Given the description of an element on the screen output the (x, y) to click on. 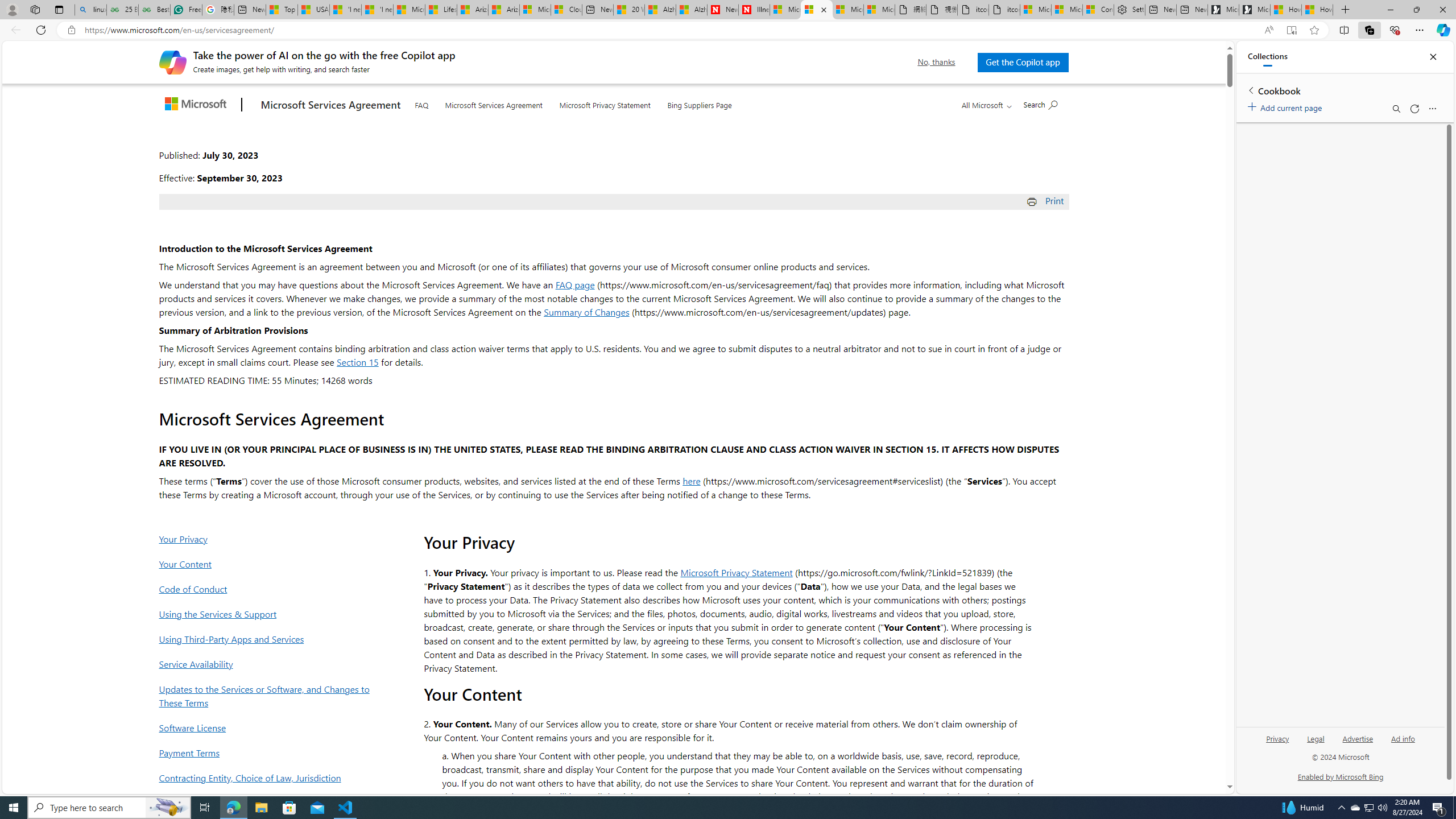
Your Content (267, 563)
Microsoft Start Gaming (1254, 9)
Summary of Changes (585, 311)
here (691, 480)
Free AI Writing Assistance for Students | Grammarly (185, 9)
App bar (728, 29)
Privacy (1278, 738)
Service Availability (267, 663)
Section 15 (357, 361)
Using the Services & Support (267, 613)
Microsoft Privacy Statement (604, 103)
